Given the description of an element on the screen output the (x, y) to click on. 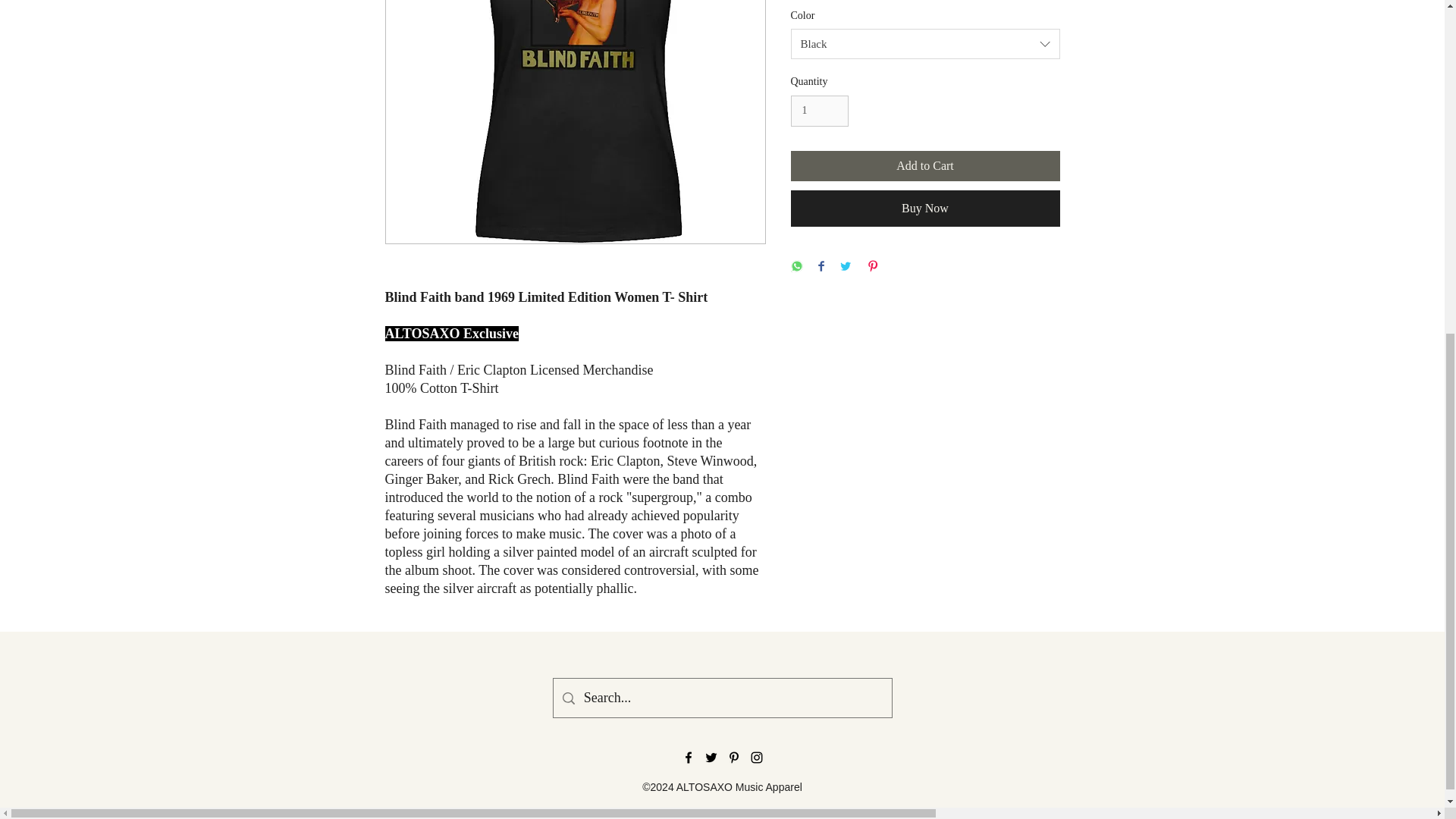
Buy Now (924, 208)
Black (924, 43)
Add to Cart (924, 165)
1 (818, 110)
